Given the description of an element on the screen output the (x, y) to click on. 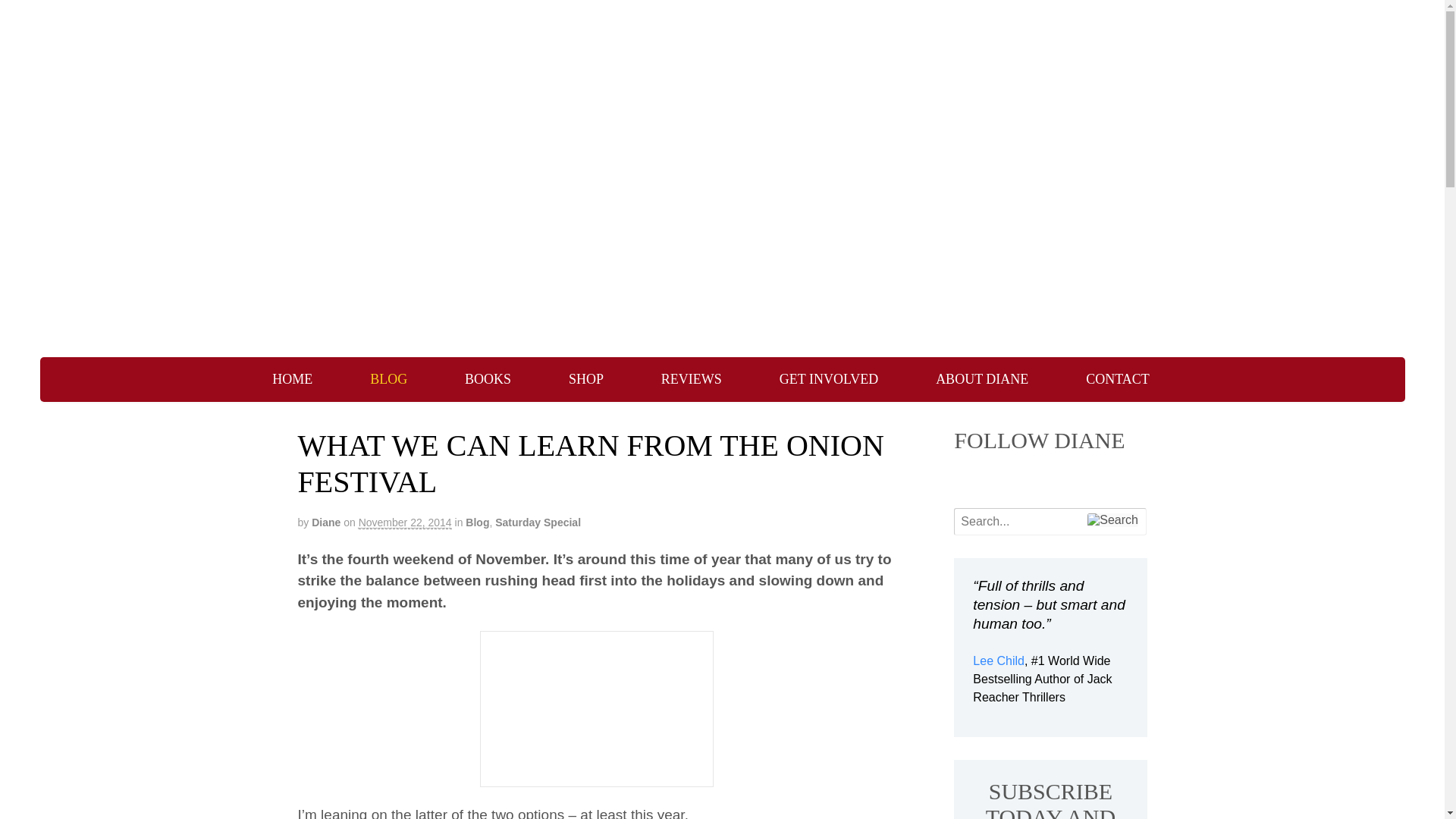
Blog (477, 522)
2014-11-22T00:05:34-0500 (404, 522)
ABOUT DIANE (981, 379)
GET INVOLVED (828, 379)
HOME (291, 379)
SHOP (585, 379)
CONTACT (1117, 379)
Posts by Diane (325, 522)
Search... (1042, 521)
BLOG (387, 379)
Saturday Special (537, 522)
BOOKS (488, 379)
REVIEWS (691, 379)
Diane (325, 522)
